Given the description of an element on the screen output the (x, y) to click on. 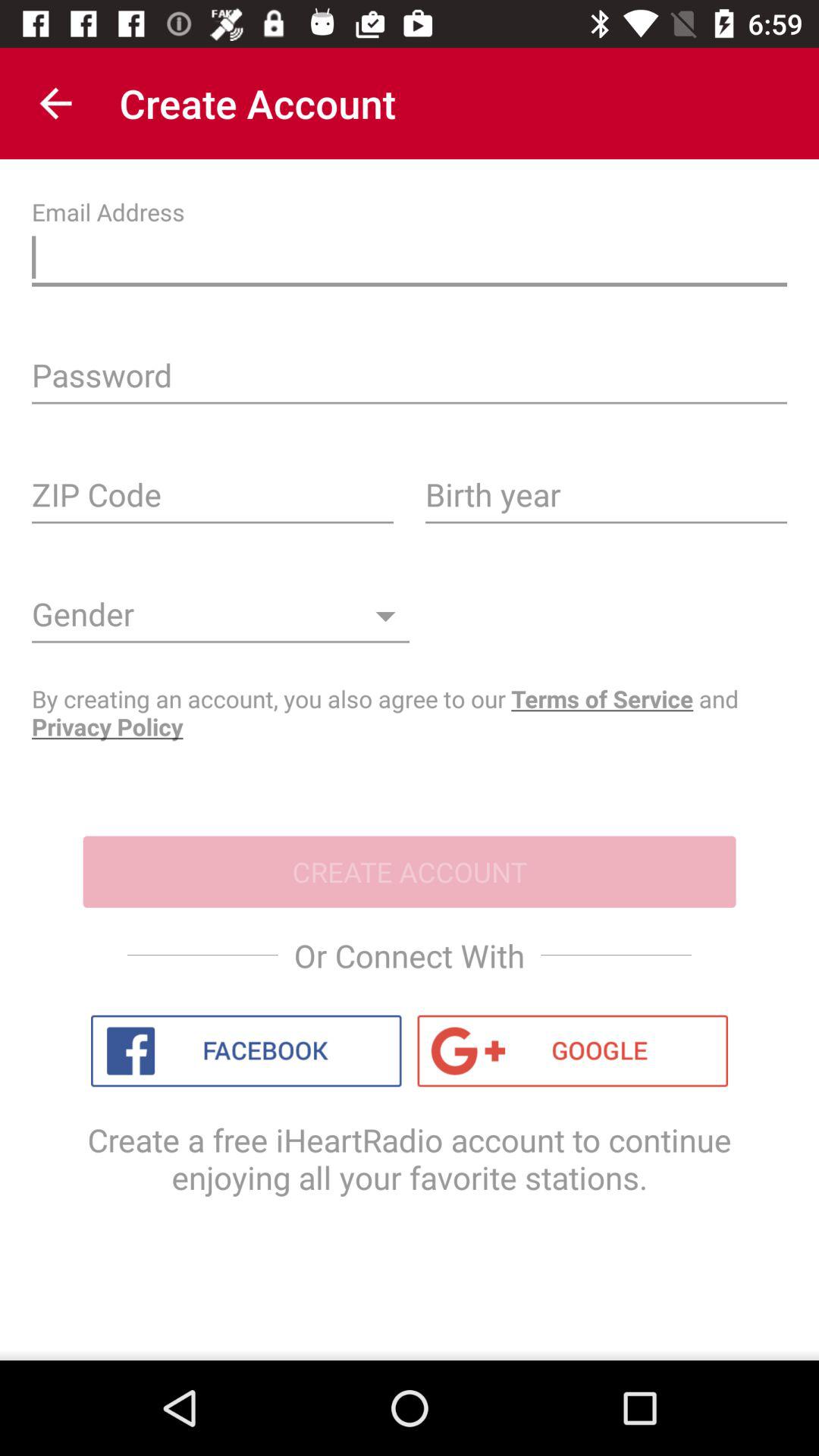
select the app next to the create account item (55, 103)
